Given the description of an element on the screen output the (x, y) to click on. 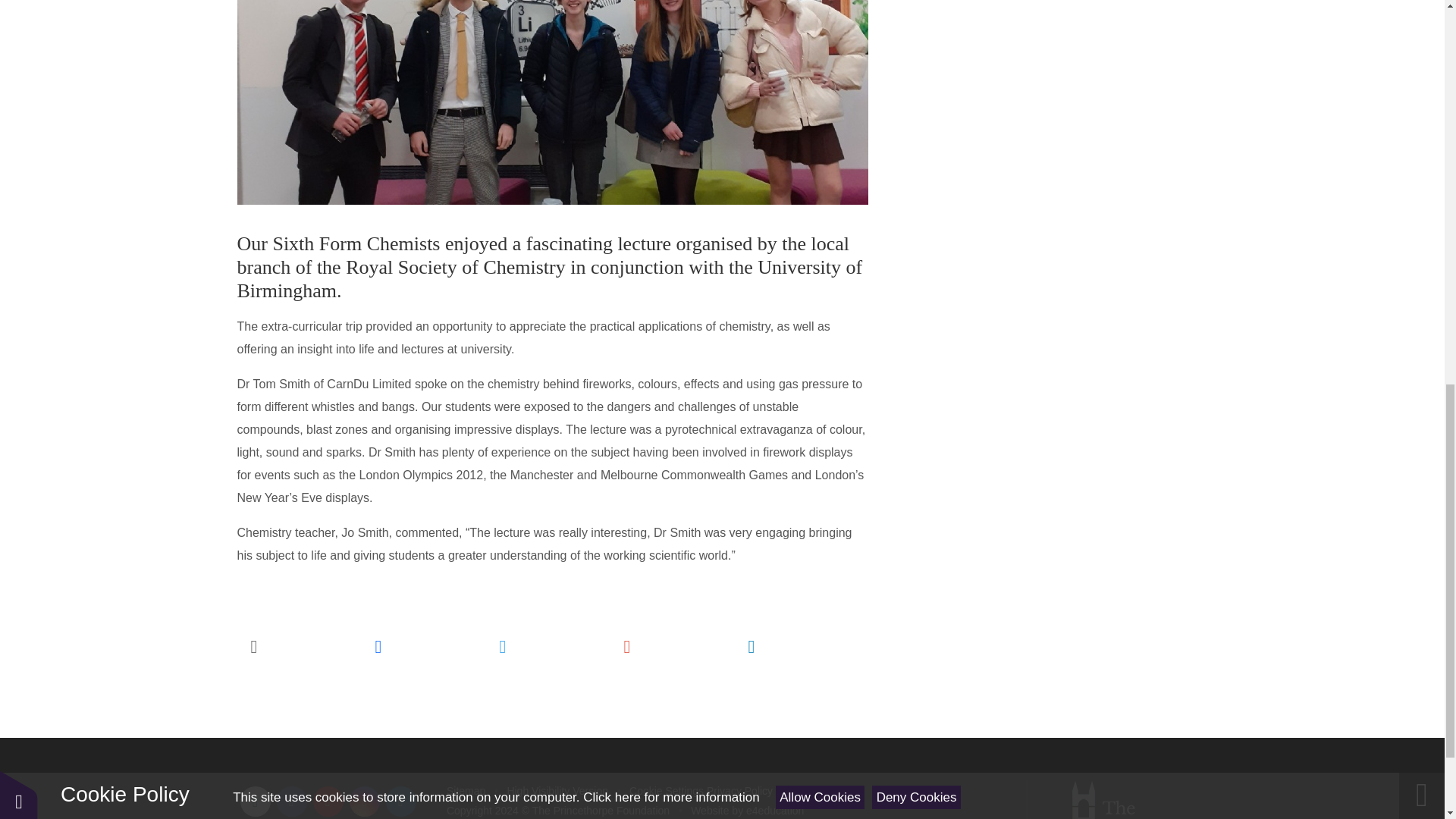
Cookie Settings (665, 790)
